Given the description of an element on the screen output the (x, y) to click on. 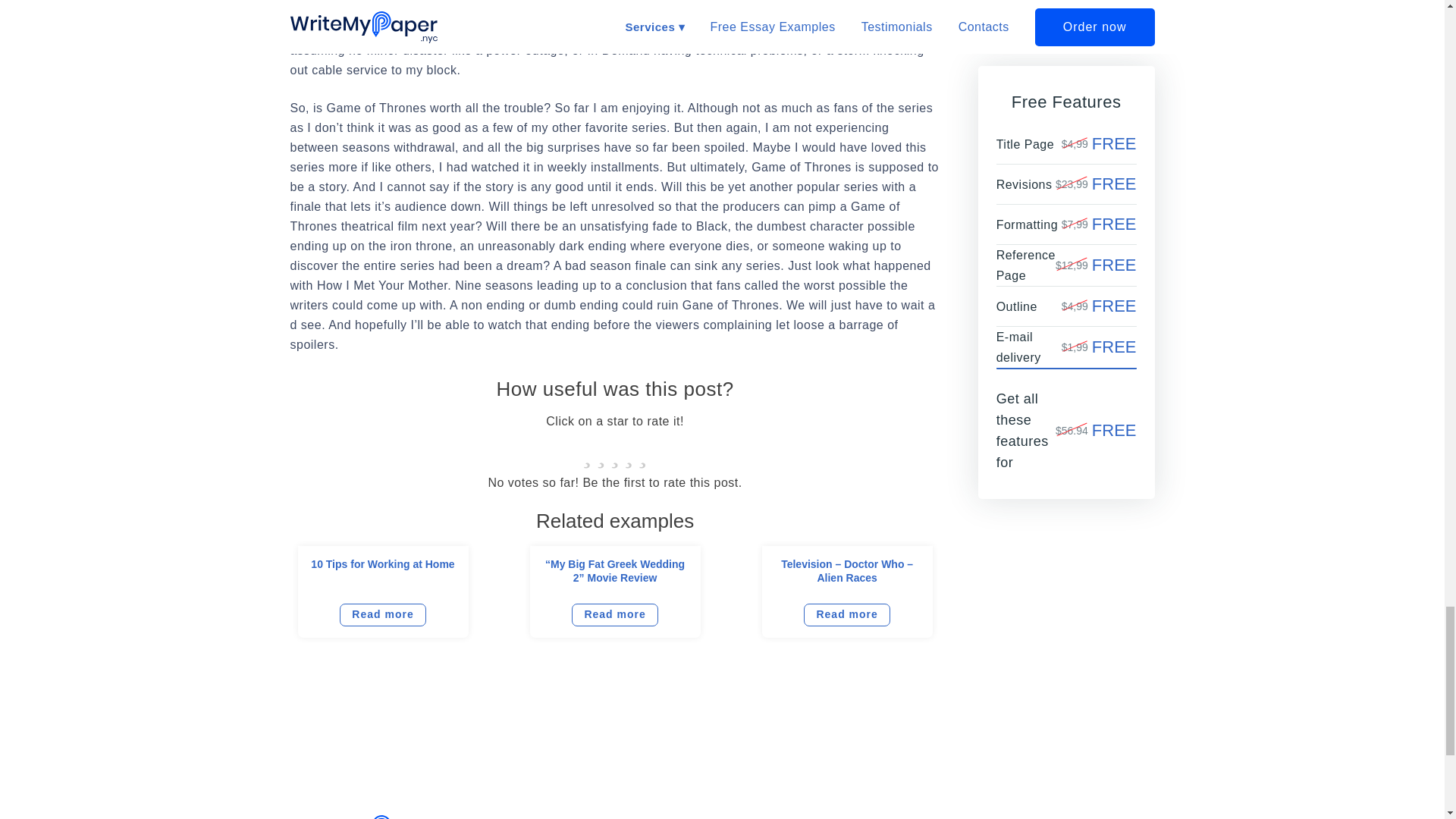
10 Tips for Working at Home (382, 563)
Read more (382, 614)
Read more (846, 614)
Read more (615, 614)
